Given the description of an element on the screen output the (x, y) to click on. 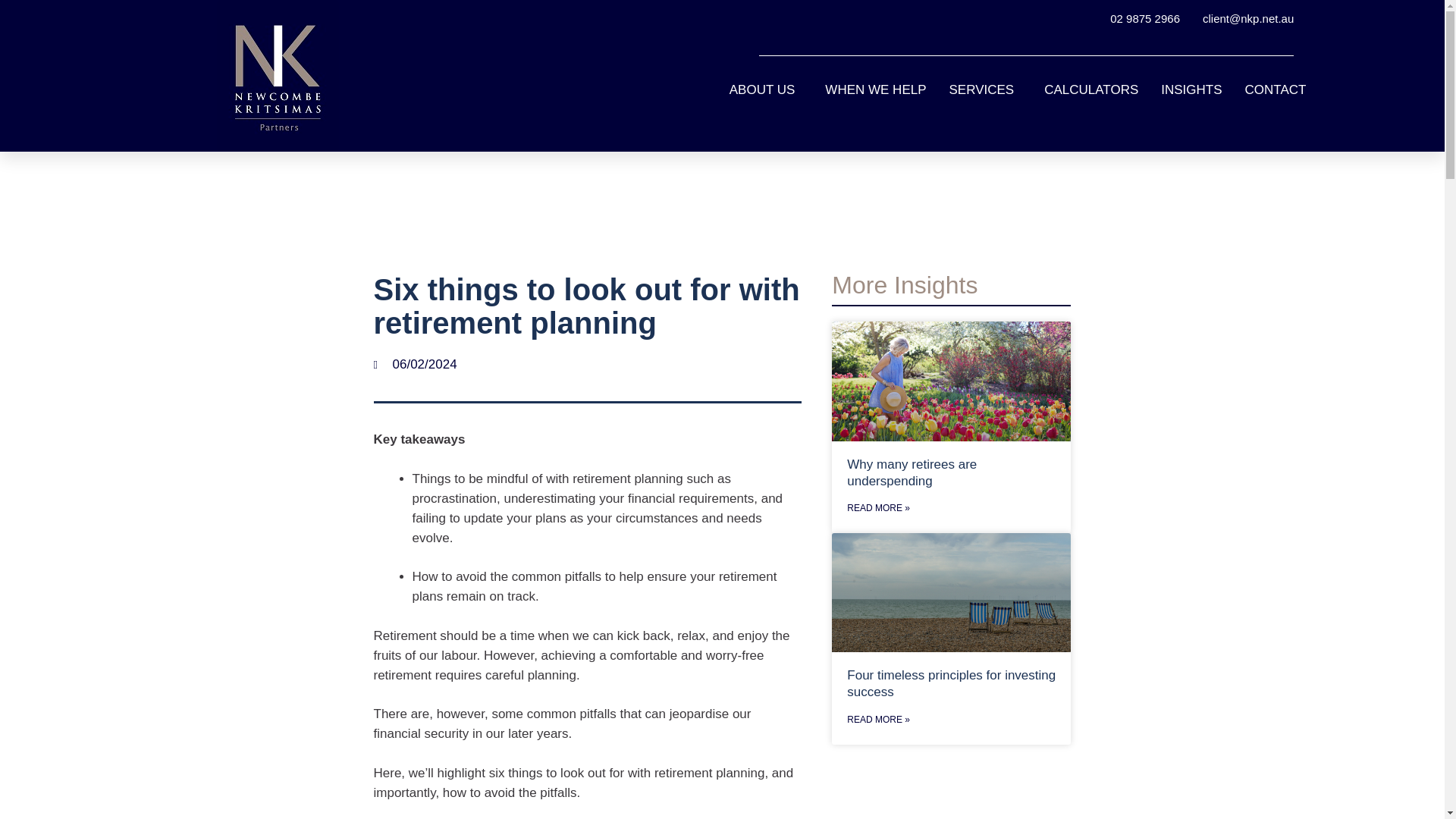
Why many retirees are underspending (949, 380)
02 9875 2966 (1144, 18)
ABOUT US (766, 90)
SERVICES (985, 90)
CONTACT (1275, 90)
WHEN WE HELP (874, 90)
Four timeless principles for investing success (949, 592)
CALCULATORS (1090, 90)
INSIGHTS (1190, 90)
